Given the description of an element on the screen output the (x, y) to click on. 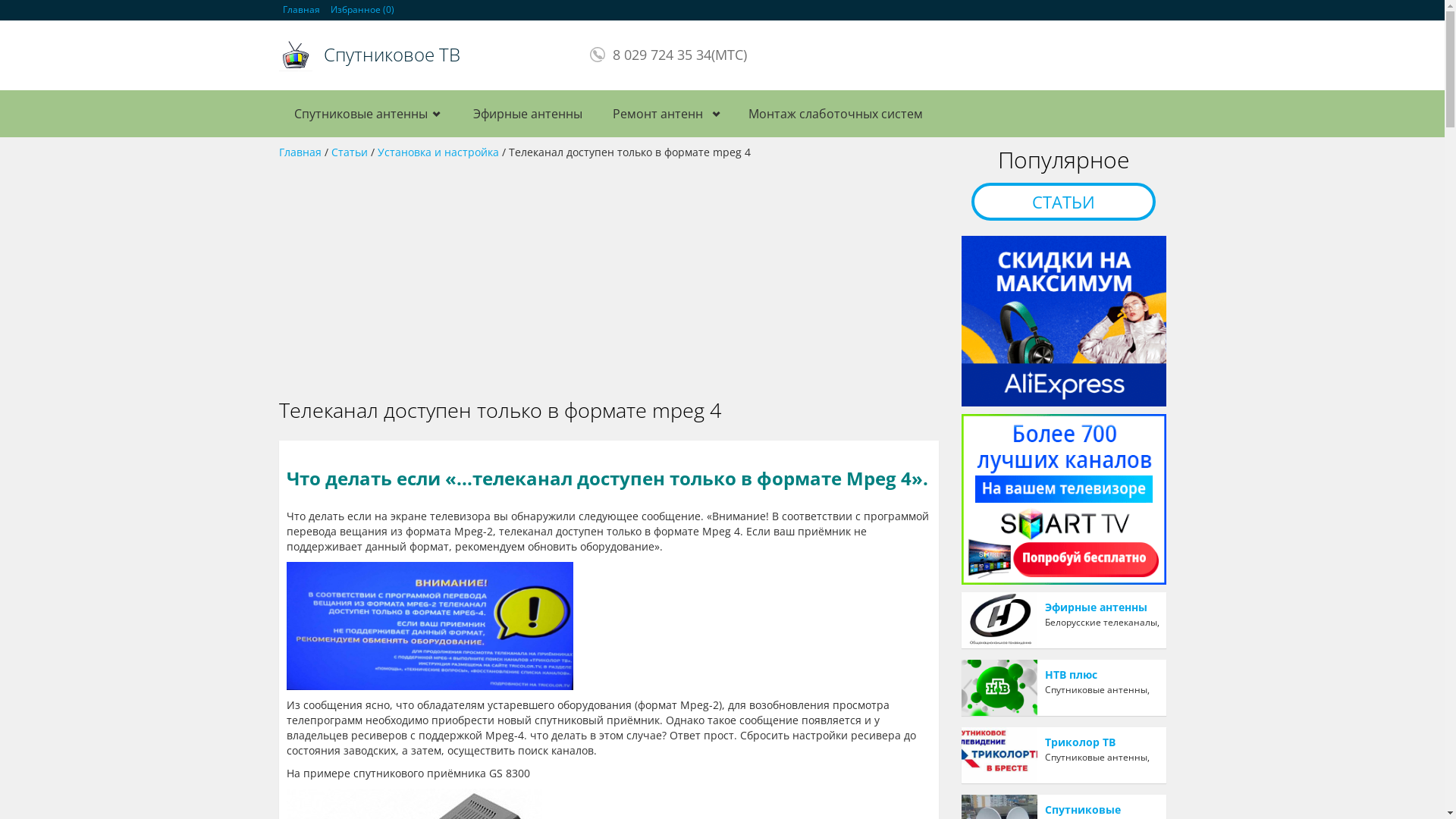
Advertisement Element type: hover (608, 273)
